Given the description of an element on the screen output the (x, y) to click on. 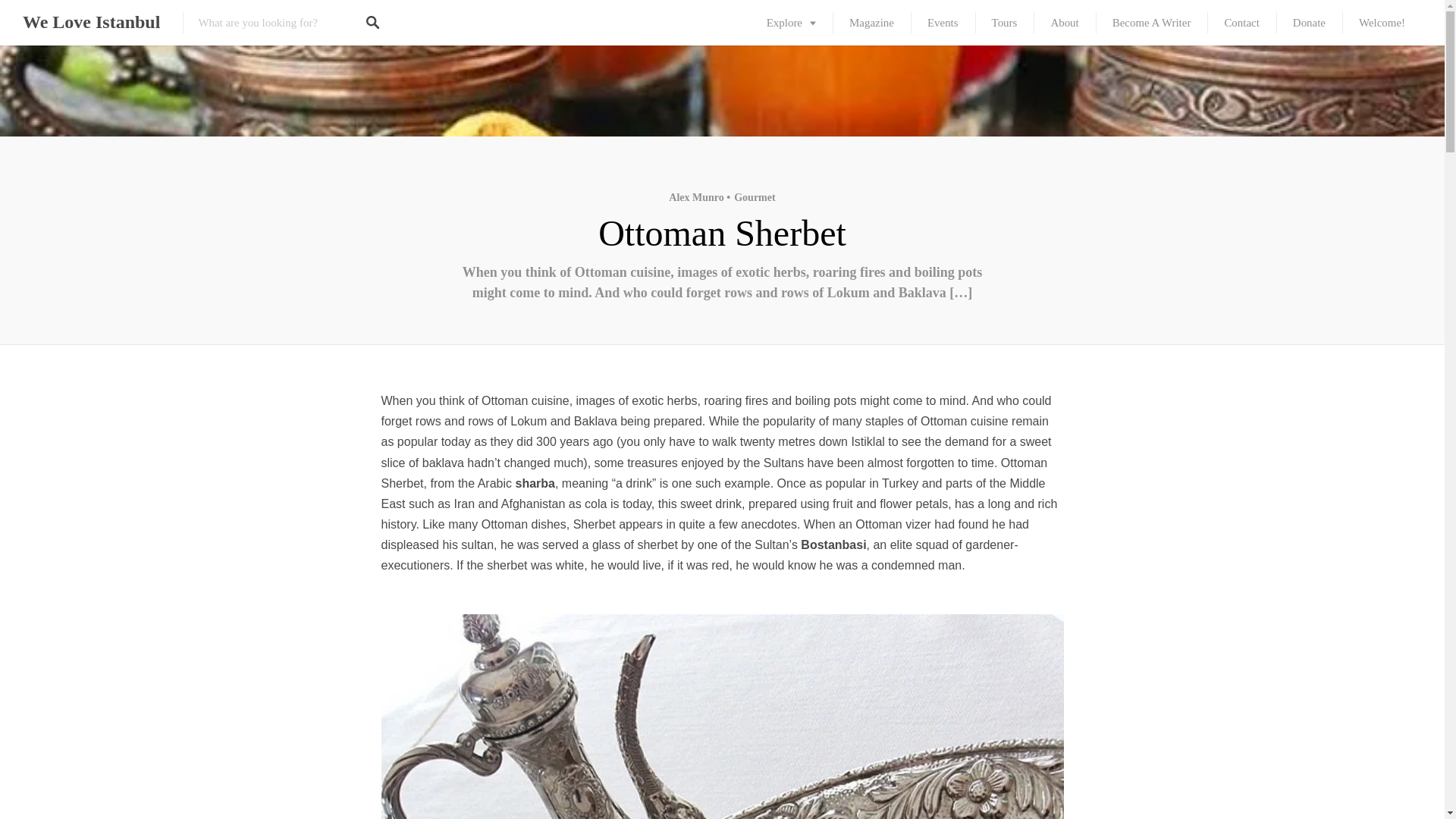
Explore (790, 22)
We Love Istanbul (91, 22)
Posts by Alex Munro (695, 197)
